Given the description of an element on the screen output the (x, y) to click on. 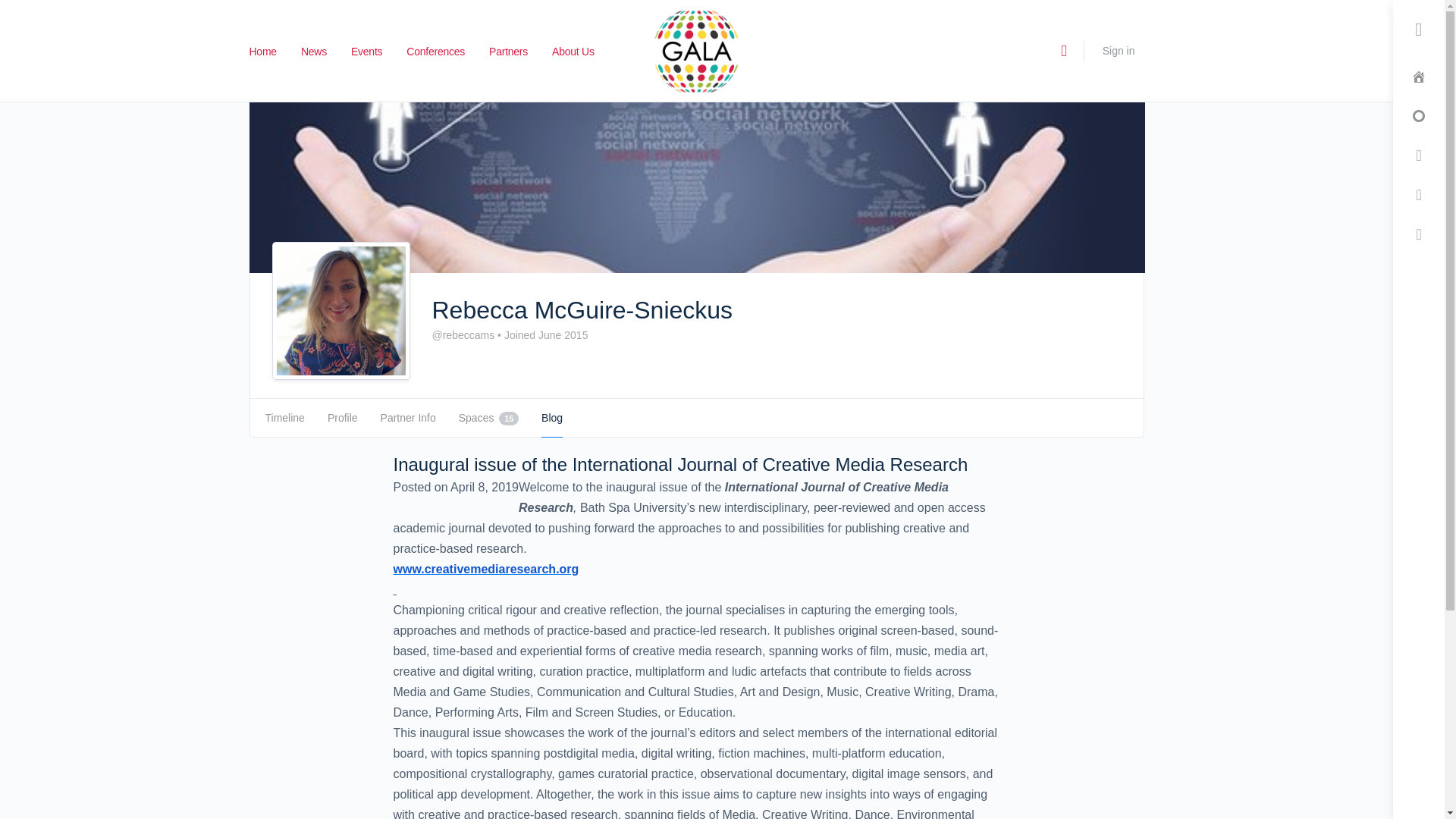
Conferences (435, 51)
Search (274, 101)
Timeline (284, 417)
Search (1063, 50)
Sign in (1118, 50)
